Given the description of an element on the screen output the (x, y) to click on. 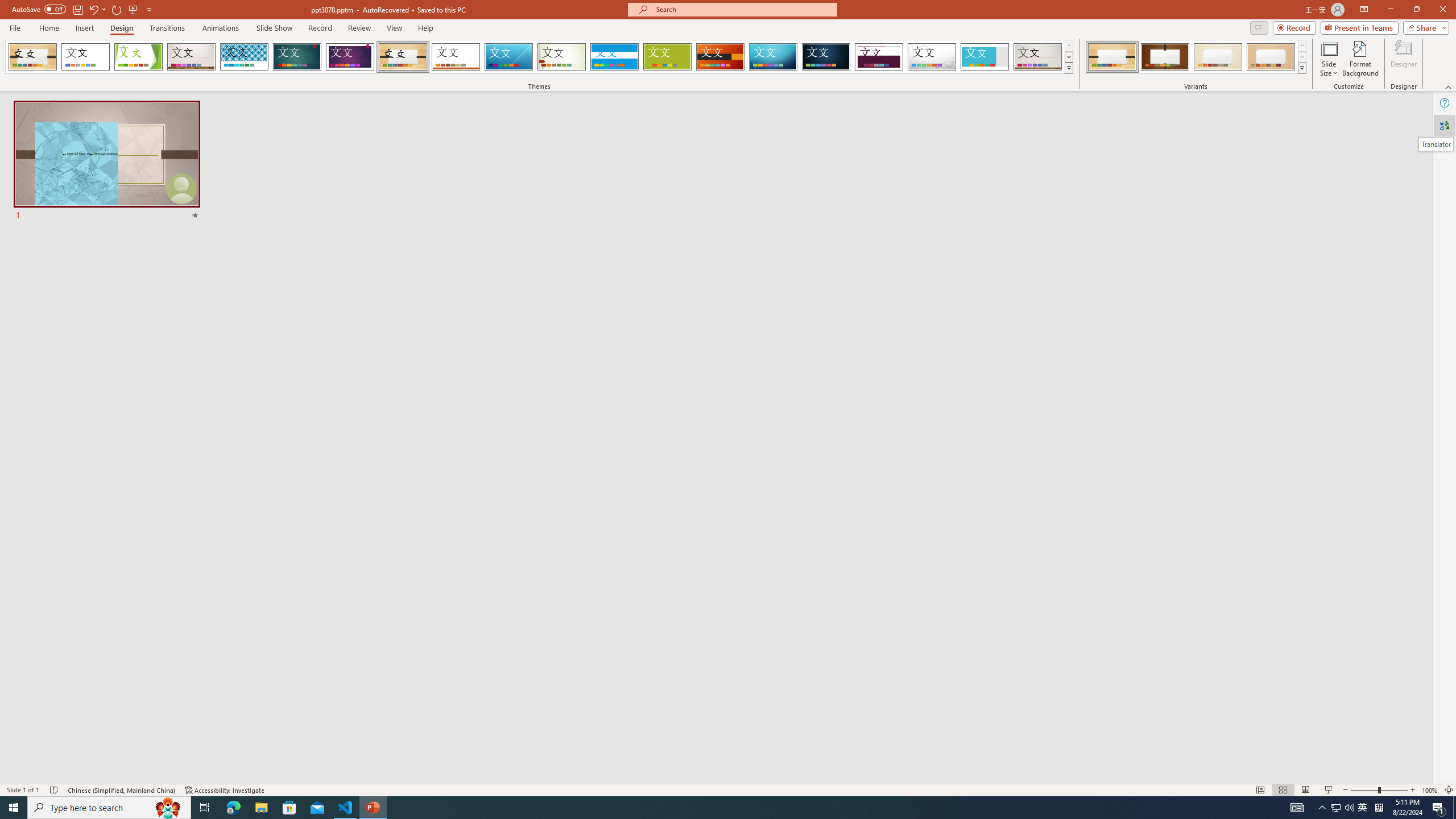
Accessibility Checker Accessibility: Investigate (224, 790)
Integral (244, 56)
Variants (1301, 67)
